Given the description of an element on the screen output the (x, y) to click on. 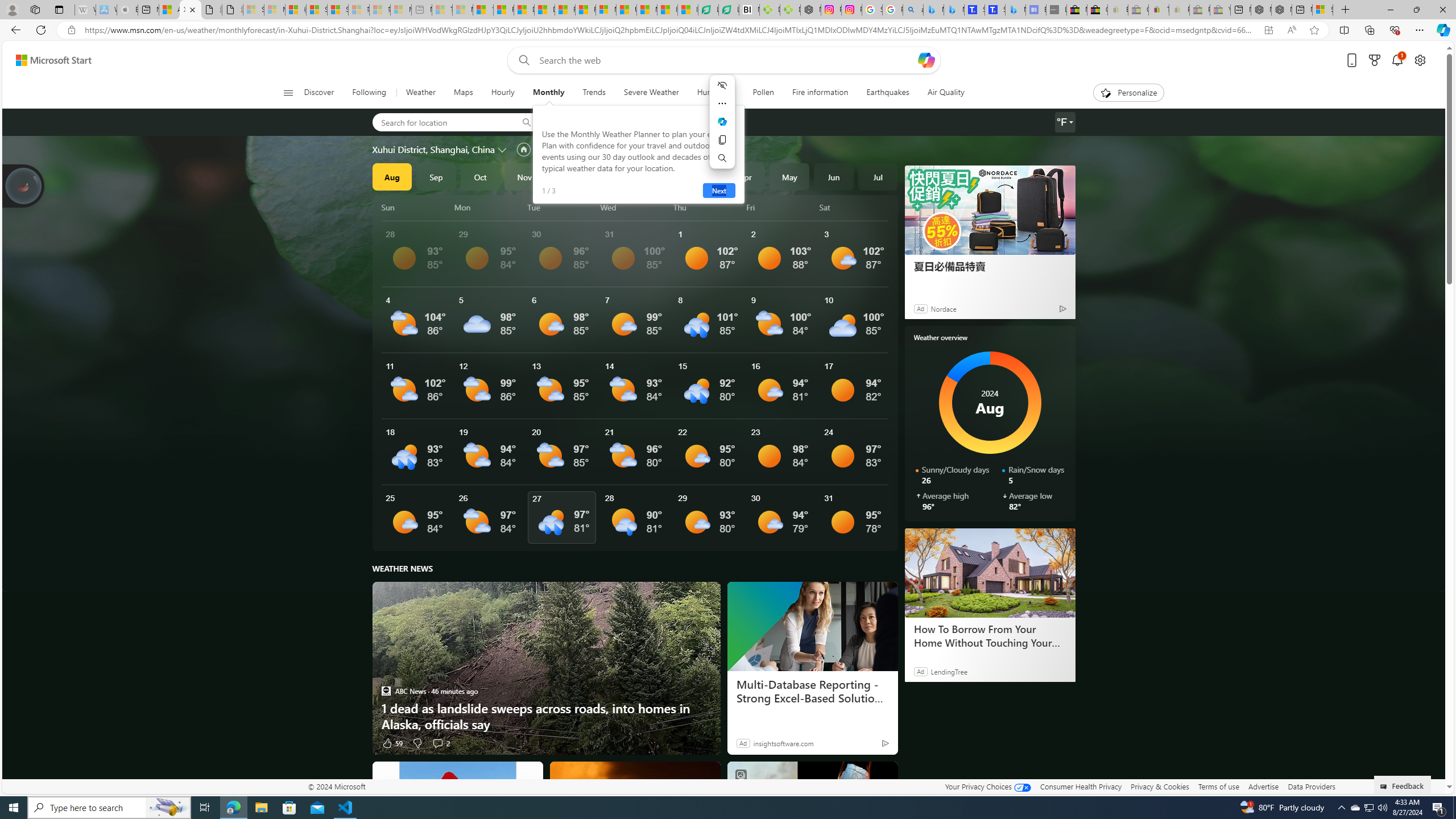
Oct (480, 176)
Data Providers (1311, 786)
Mini menu on text selection (722, 121)
Wikipedia - Sleeping (84, 9)
Next (718, 190)
Nordace - Nordace Edin Collection (809, 9)
Notifications (1397, 60)
